Given the description of an element on the screen output the (x, y) to click on. 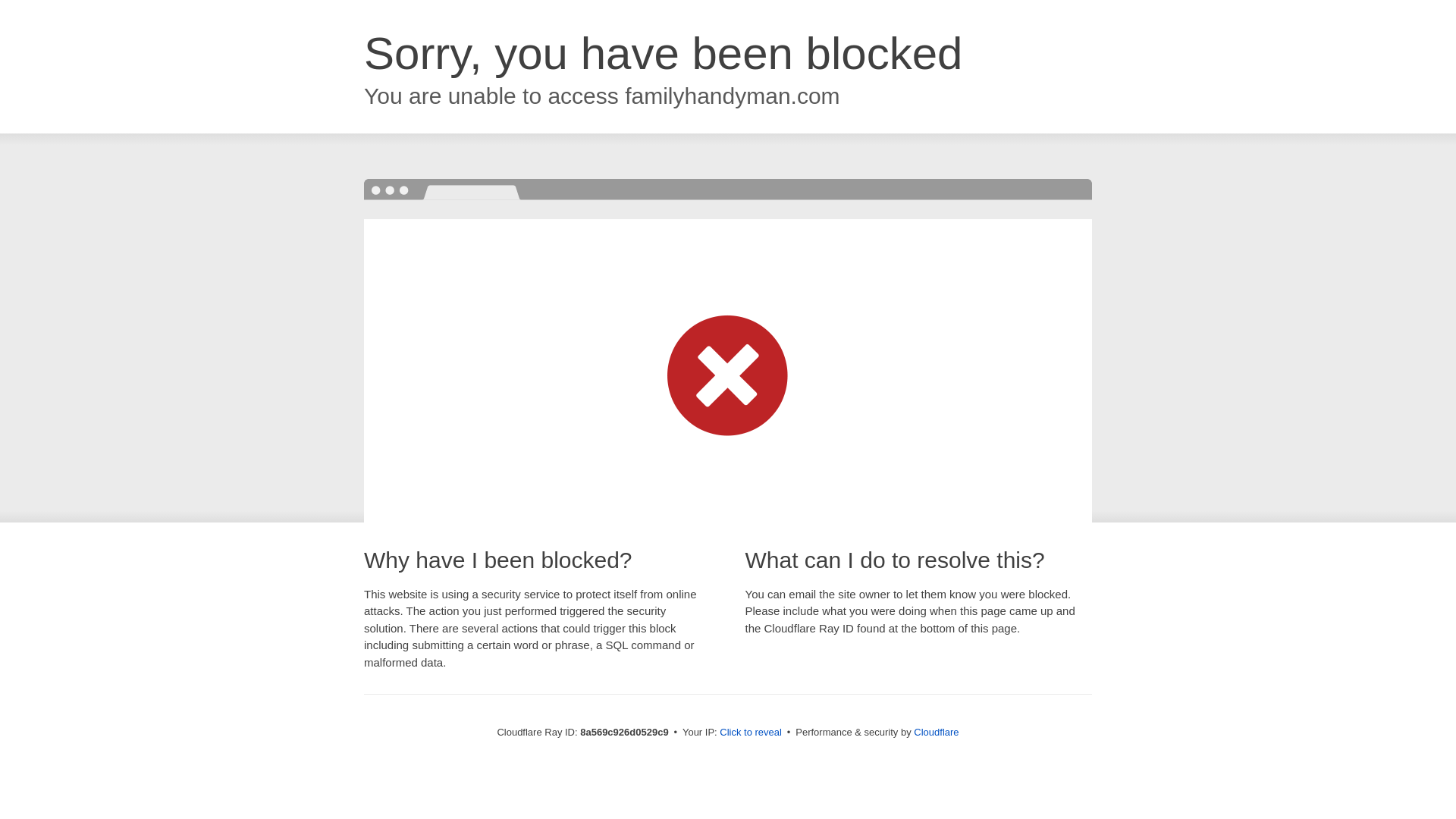
Click to reveal (750, 732)
Cloudflare (936, 731)
